Given the description of an element on the screen output the (x, y) to click on. 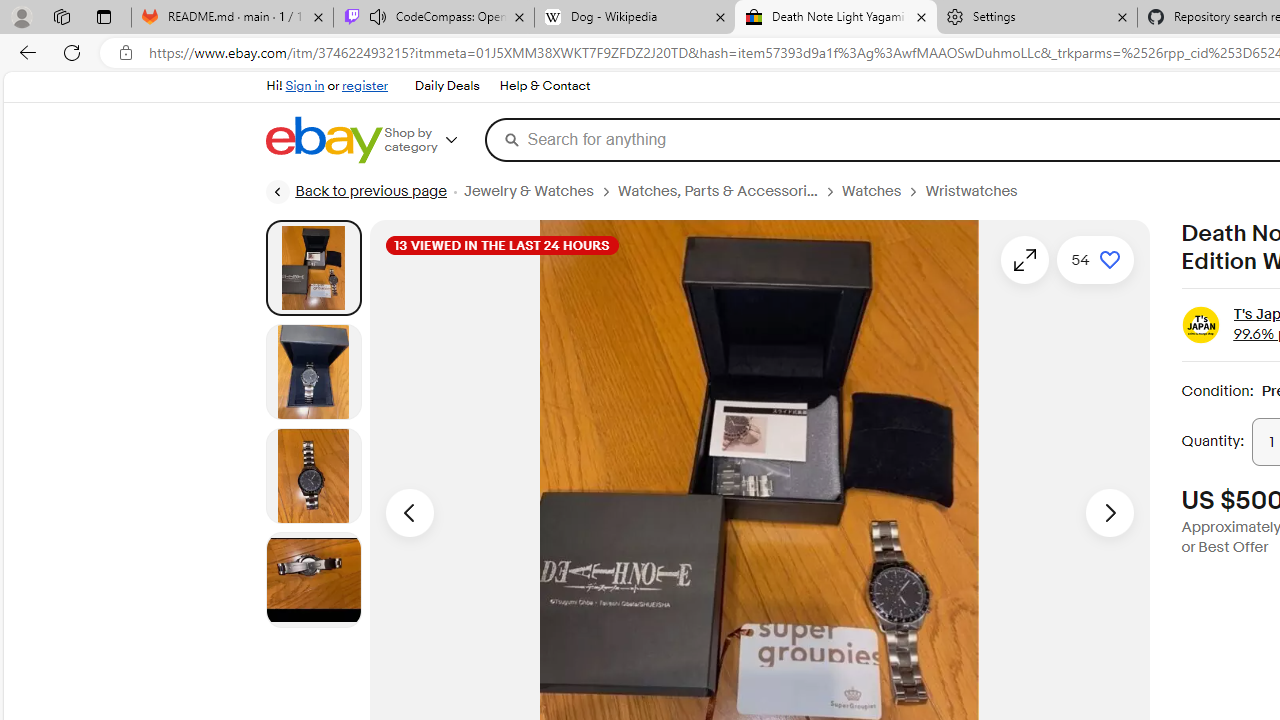
Shop by category (434, 140)
Previous image - Item images thumbnails (409, 512)
eBay Home (323, 139)
Picture 1 of 4 (313, 267)
Next image - Item images thumbnails (1109, 512)
Back to previous page (355, 191)
Daily Deals (447, 86)
Watches (871, 191)
Picture 2 of 4 (313, 371)
Picture 4 of 4 (313, 579)
eBay Home (323, 139)
